Given the description of an element on the screen output the (x, y) to click on. 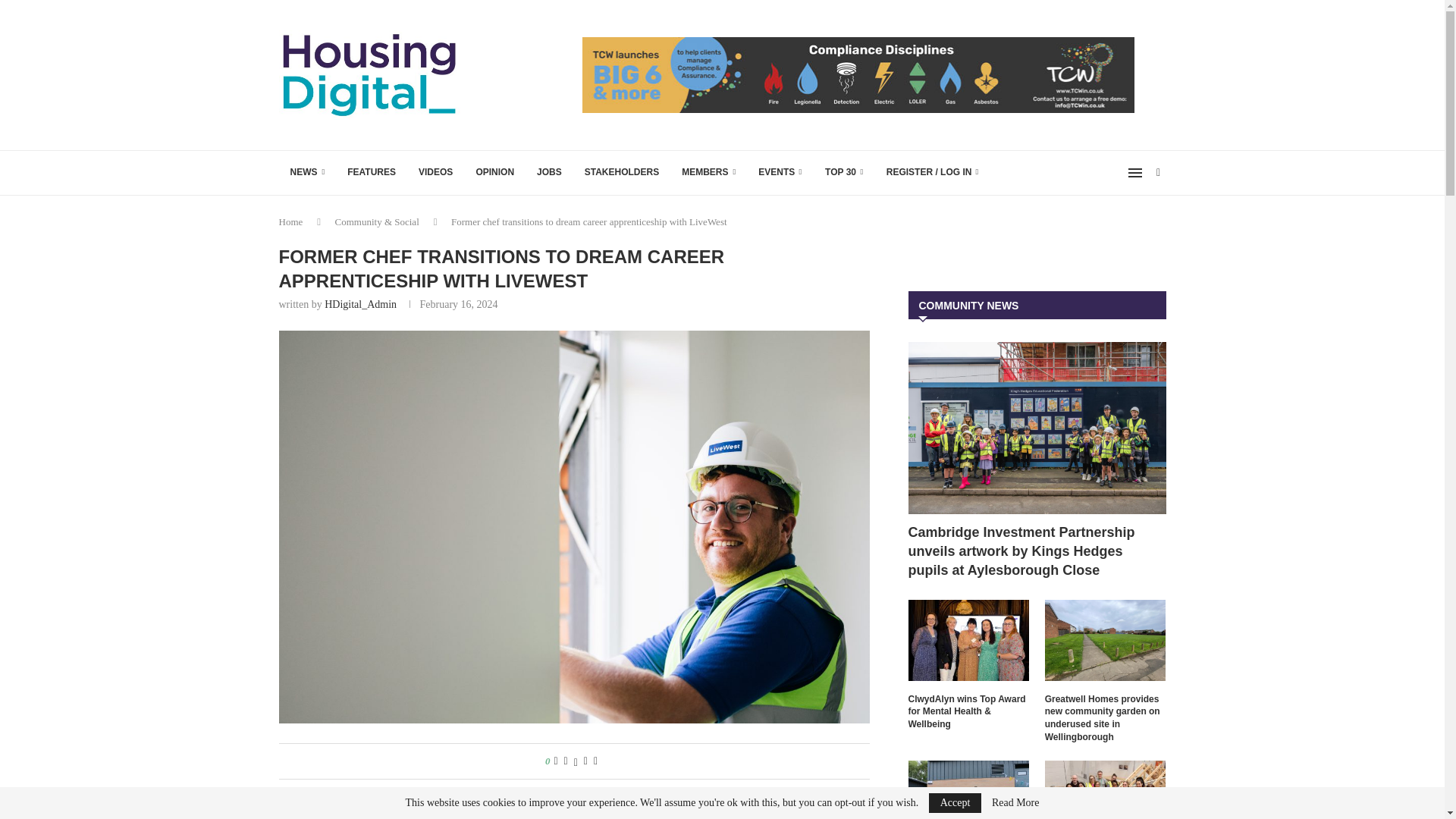
FEATURES (371, 172)
VIDEOS (435, 172)
MEMBERS (707, 172)
Home (290, 221)
NEWS (307, 172)
Like (555, 761)
TOP 30 (844, 172)
EVENTS (779, 172)
OPINION (494, 172)
JOBS (549, 172)
STAKEHOLDERS (621, 172)
